Given the description of an element on the screen output the (x, y) to click on. 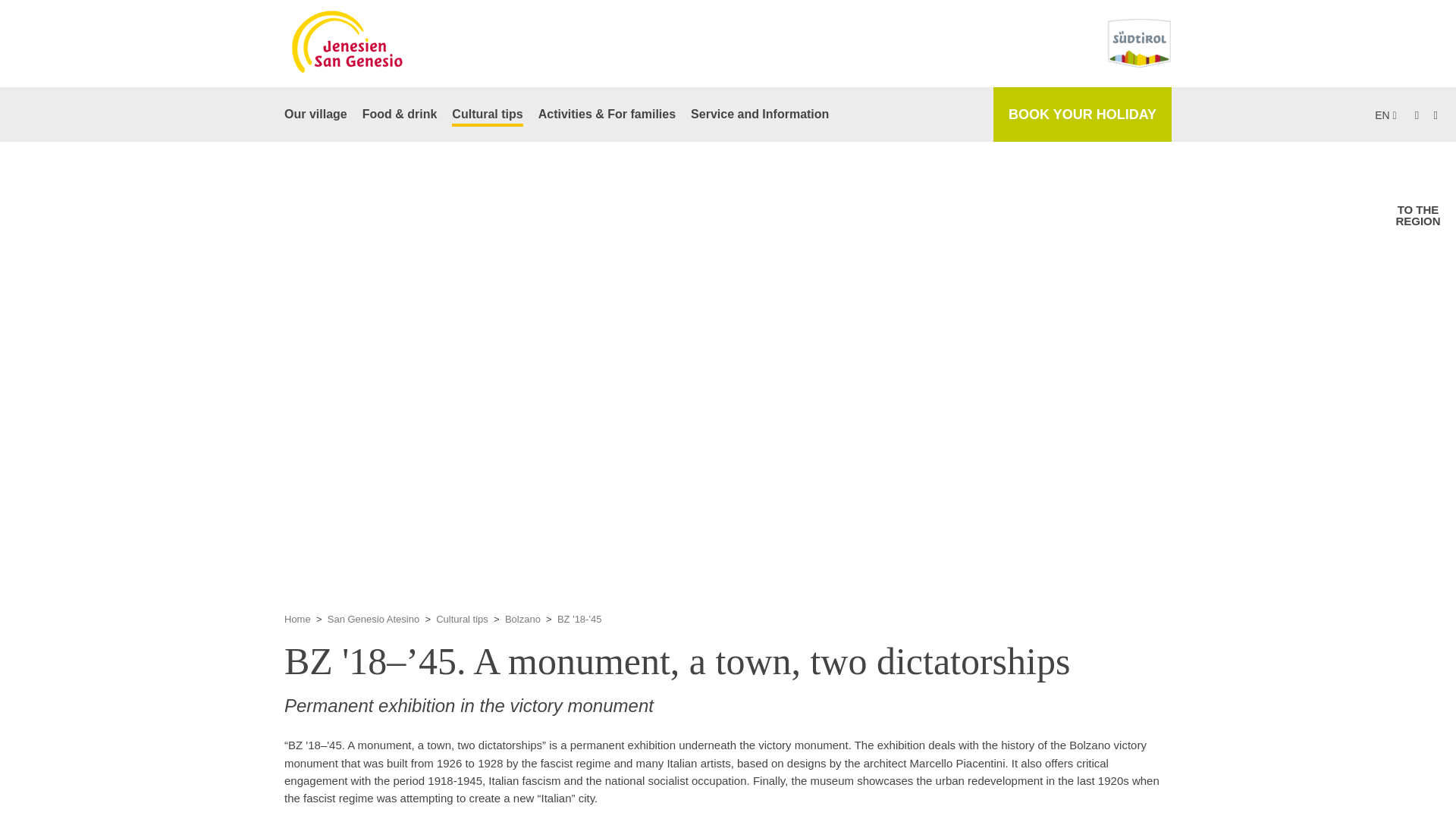
BOOK YOUR HOLIDAY (1082, 113)
home (1417, 214)
Weather (1427, 267)
EN (1385, 115)
Webcams (1427, 311)
Our village (315, 113)
